Given the description of an element on the screen output the (x, y) to click on. 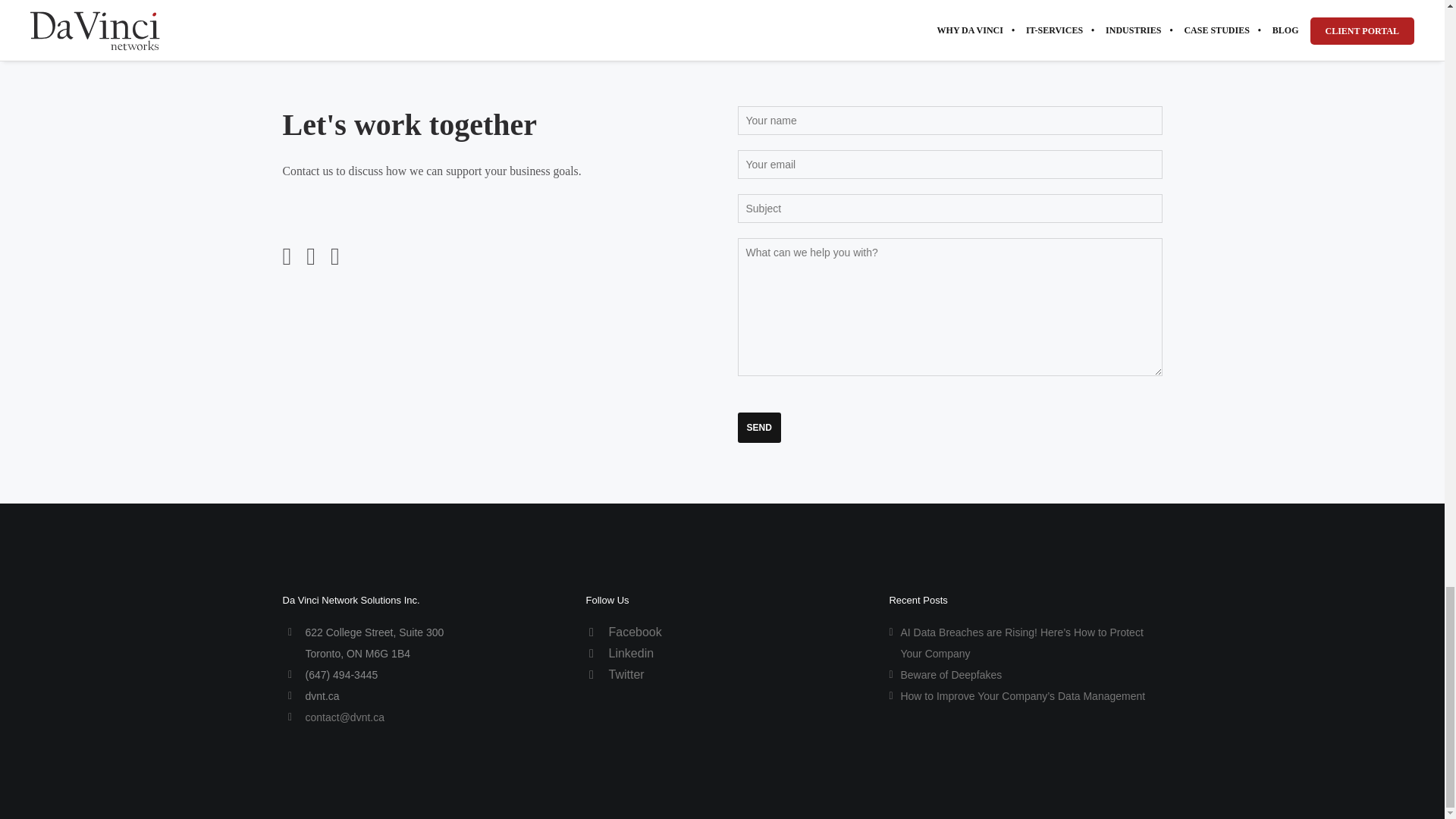
Send (758, 427)
